Given the description of an element on the screen output the (x, y) to click on. 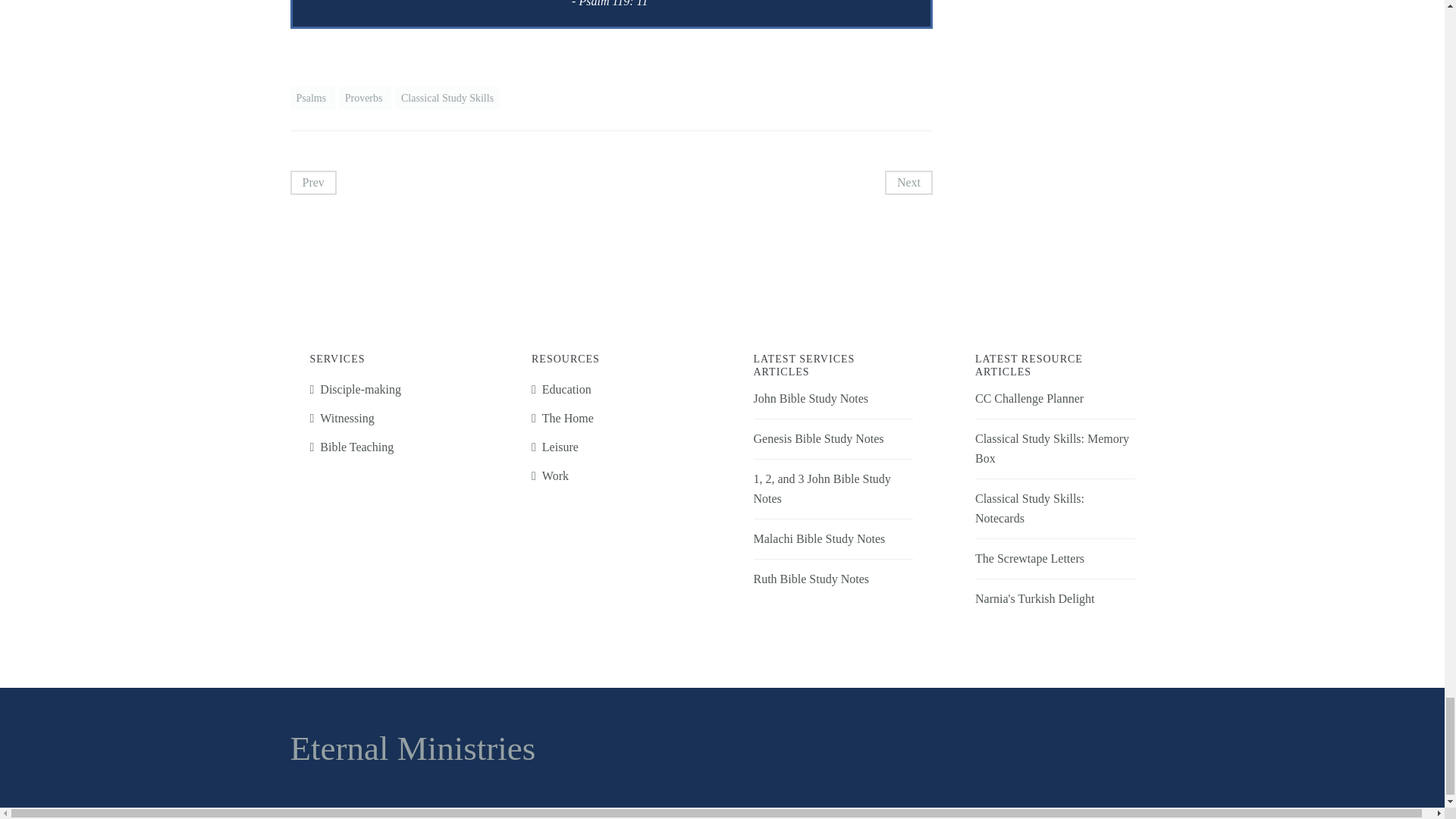
Proverbs (365, 97)
Next (909, 182)
Prev (312, 182)
Psalms (311, 97)
Classical Study Skills (446, 97)
